Given the description of an element on the screen output the (x, y) to click on. 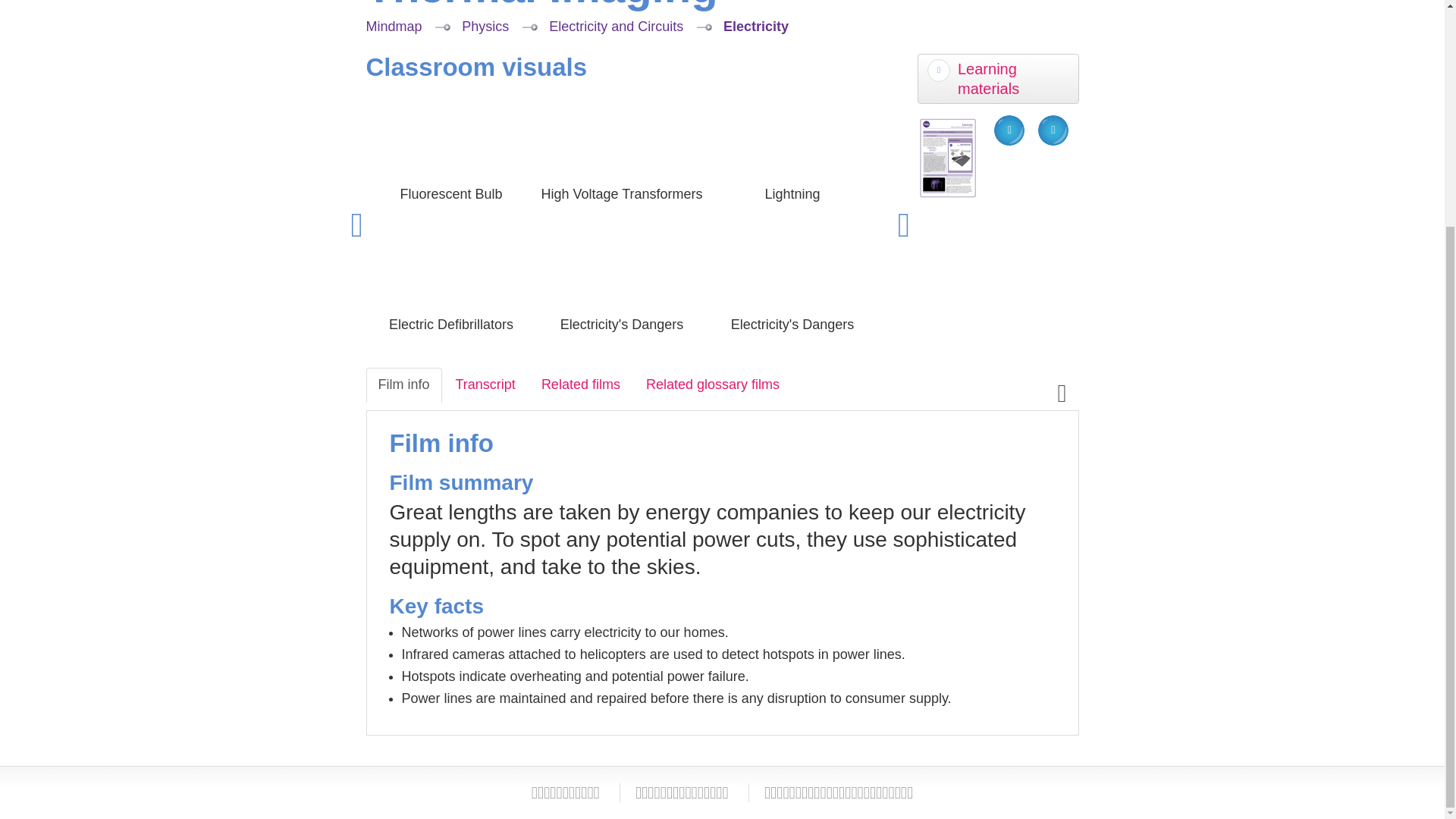
Physics (484, 26)
Download Whole Topic Handout ZIP (1053, 130)
Electricity (756, 26)
Transcript (485, 384)
Related films (580, 384)
Learning materials (997, 79)
Electricity and Circuits (615, 26)
Mindmap (393, 26)
Film info (403, 384)
